Given the description of an element on the screen output the (x, y) to click on. 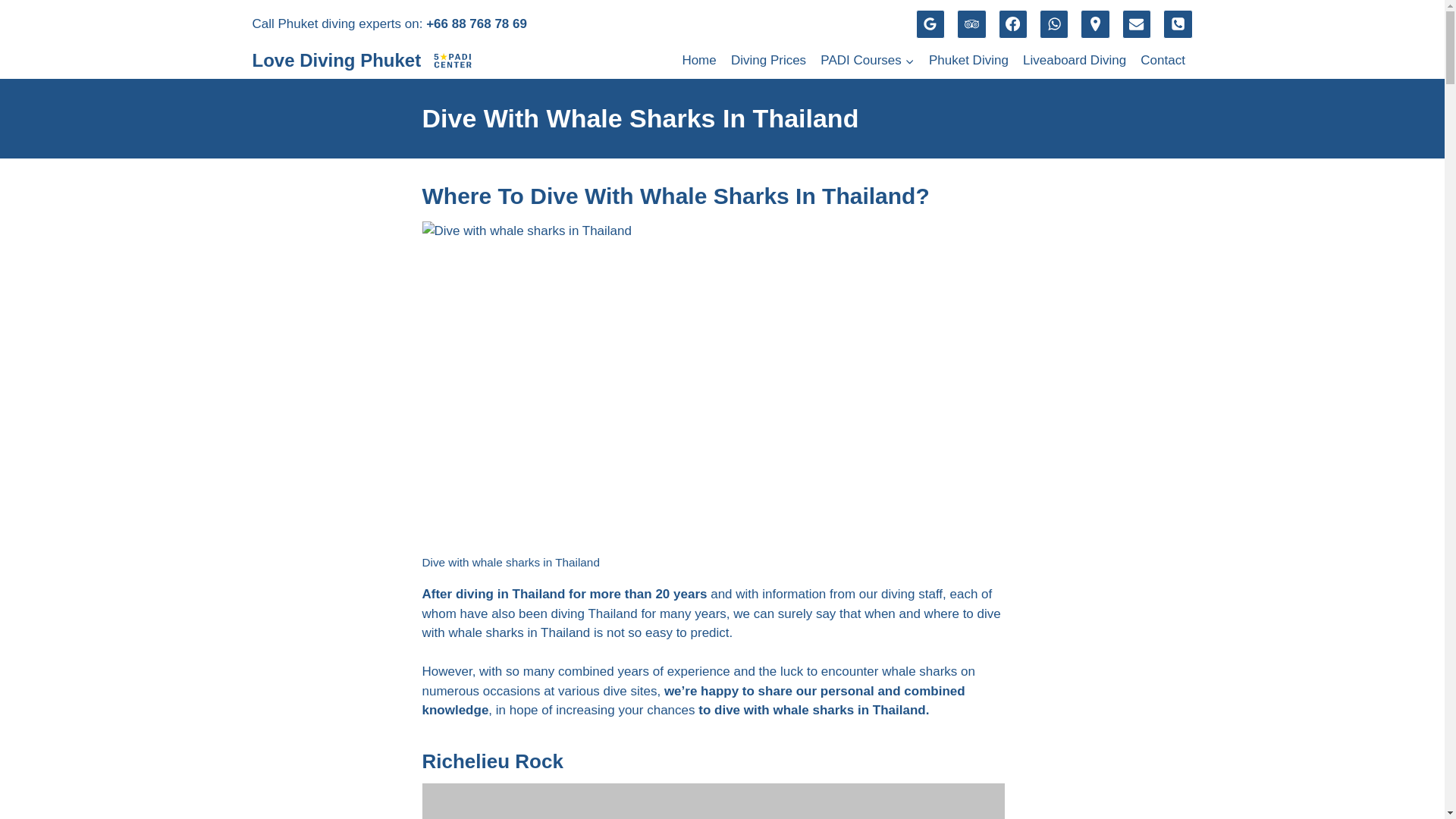
Liveaboard Diving (1073, 60)
Home (699, 60)
Dive With Whale Sharks In Thailand 2 (713, 800)
Phuket Diving (967, 60)
Contact (1163, 60)
Love Diving Phuket (361, 60)
PADI Courses (867, 60)
Diving Prices (767, 60)
